Given the description of an element on the screen output the (x, y) to click on. 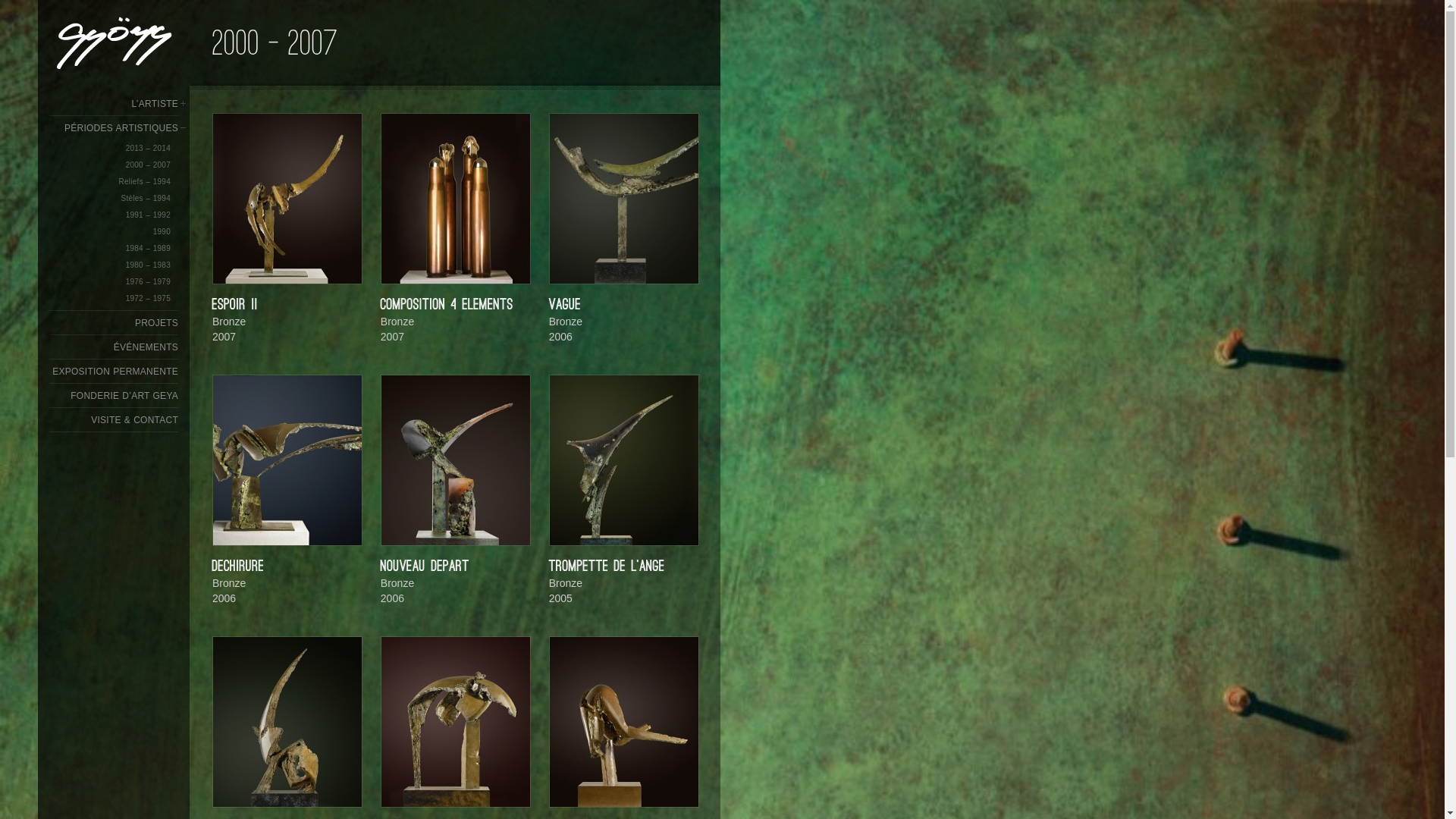
PROJETS Element type: text (156, 322)
Arc de Triomphe Element type: hover (454, 721)
Espoir II Element type: hover (286, 197)
EXPOSITION PERMANENTE Element type: text (115, 371)
1990 Element type: text (161, 231)
Le Cri Element type: hover (287, 721)
Le Cri Element type: hover (286, 721)
Dechirure Element type: hover (286, 459)
Torse Femme IV Element type: hover (623, 721)
Composition 4 Elements Element type: hover (454, 197)
Torse Femme IV Element type: hover (624, 721)
Composition 4 Elements Element type: hover (455, 198)
Vague Element type: hover (624, 198)
Nouveau Depart Element type: hover (455, 460)
Dechirure Element type: hover (287, 460)
VISITE & CONTACT Element type: text (134, 419)
Nouveau Depart Element type: hover (454, 459)
Vague Element type: hover (623, 197)
Arc de Triomphe Element type: hover (455, 721)
Espoir II Element type: hover (287, 198)
